Given the description of an element on the screen output the (x, y) to click on. 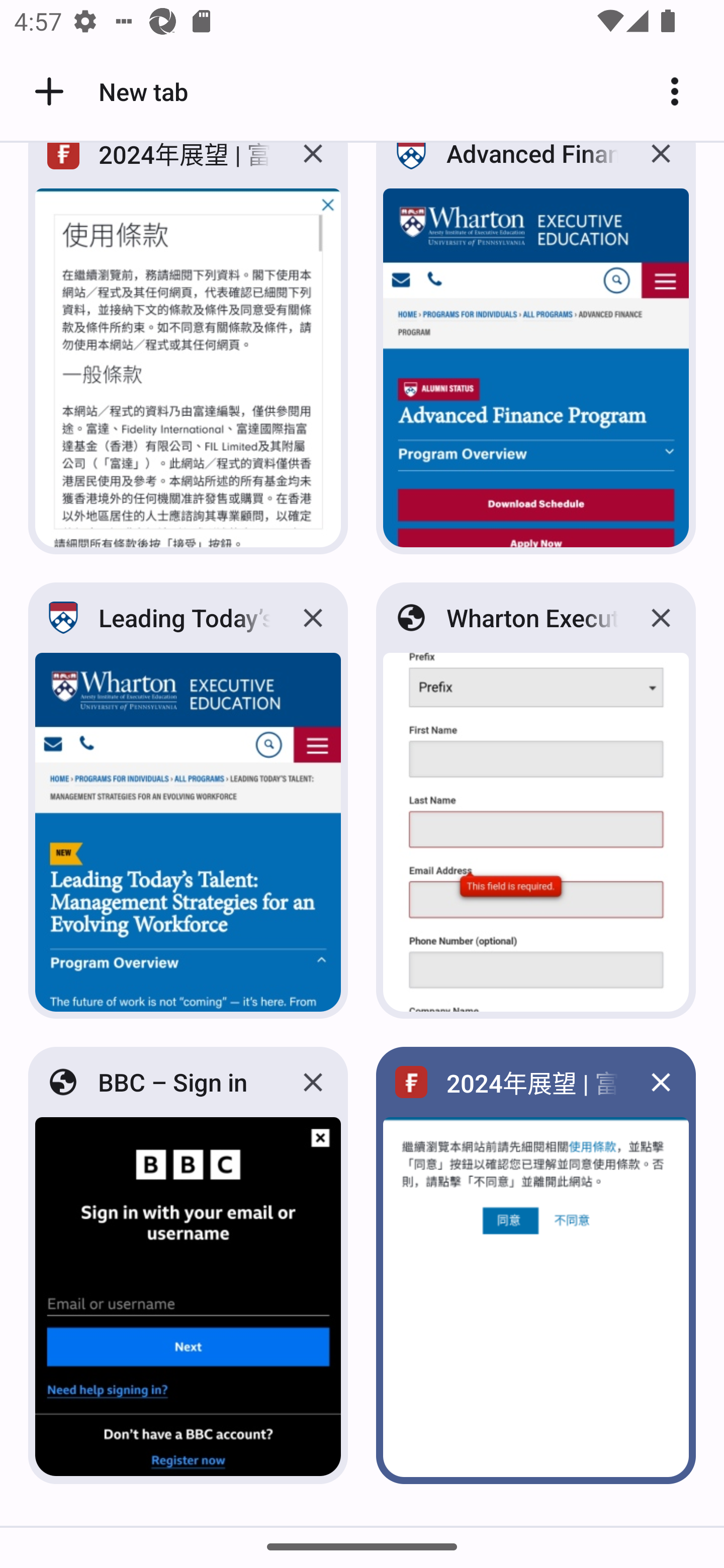
New tab New tab More options (362, 91)
New tab (108, 91)
More options (681, 91)
Close 2024年展望 | 富達香港 tab (312, 168)
Close Wharton Executive Education tab (660, 617)
Close BBC – Sign in tab (312, 1081)
Close 2024年展望 | 富達香港 tab (660, 1081)
